Given the description of an element on the screen output the (x, y) to click on. 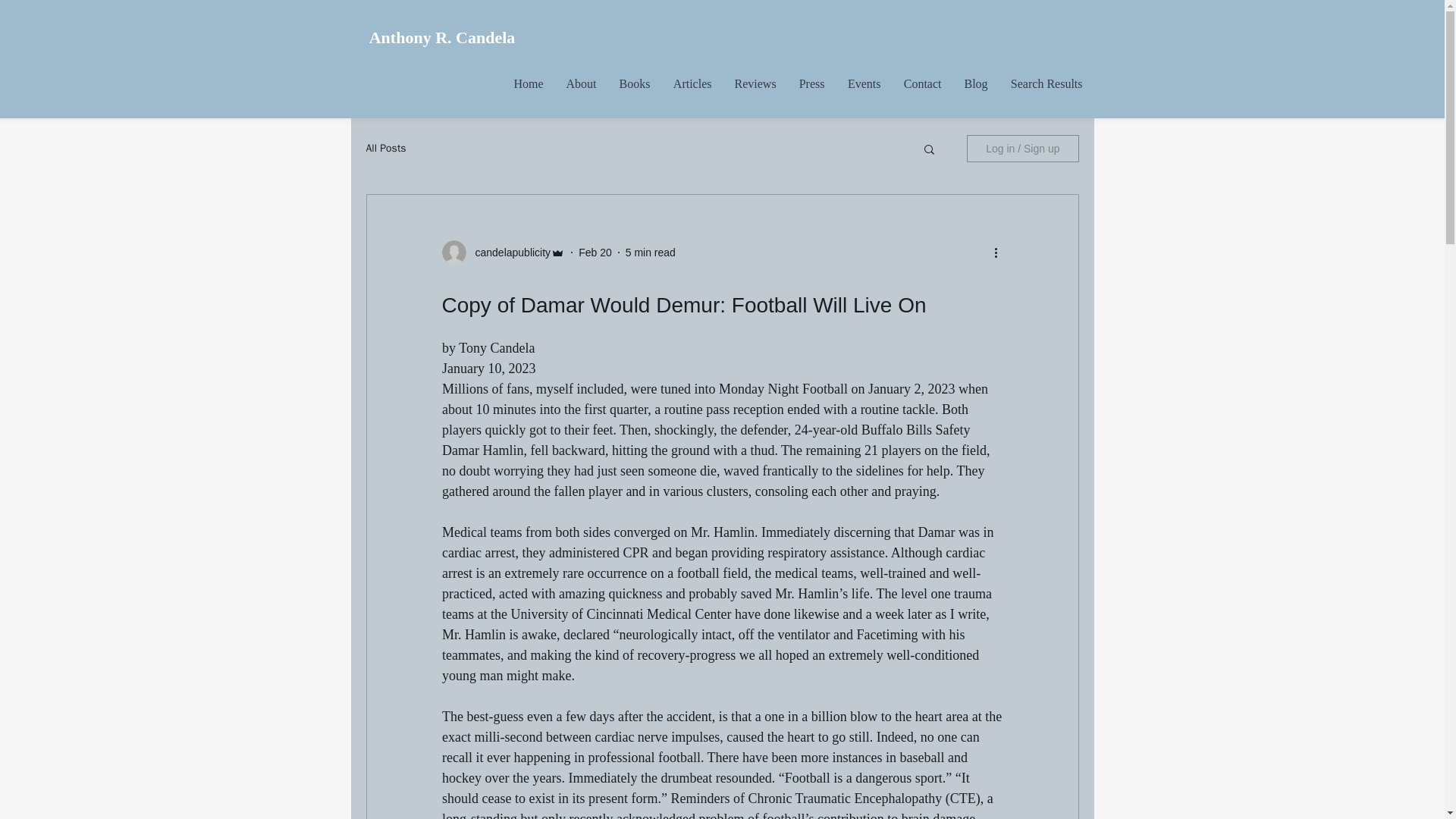
Articles (691, 83)
About (581, 83)
Books (635, 83)
Anthony R. Candela (441, 37)
Events (863, 83)
candelapublicity (507, 252)
Feb 20 (594, 251)
5 min read (650, 251)
All Posts (385, 148)
Press (811, 83)
